Given the description of an element on the screen output the (x, y) to click on. 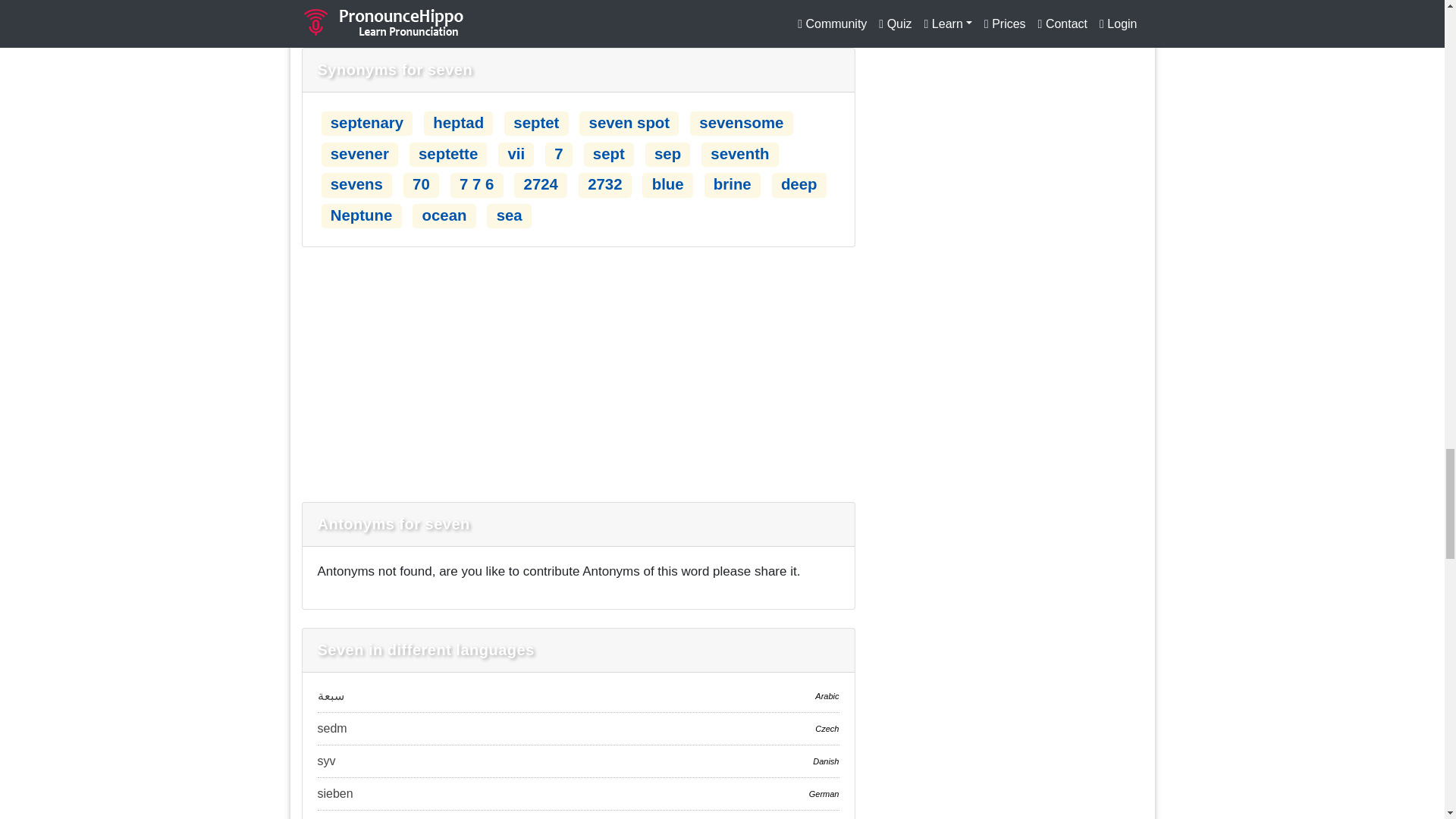
sevensome (740, 122)
How To Pronounce heptad (457, 122)
heptad (457, 122)
How To Pronounce sevensome (740, 122)
septenary (366, 122)
How To Pronounce septenary (366, 122)
septette (448, 153)
sevener (359, 153)
How To Pronounce seven spot (629, 122)
sept (608, 153)
vii (515, 153)
seven spot (629, 122)
How To Pronounce septet (536, 122)
sep (667, 153)
septet (536, 122)
